Given the description of an element on the screen output the (x, y) to click on. 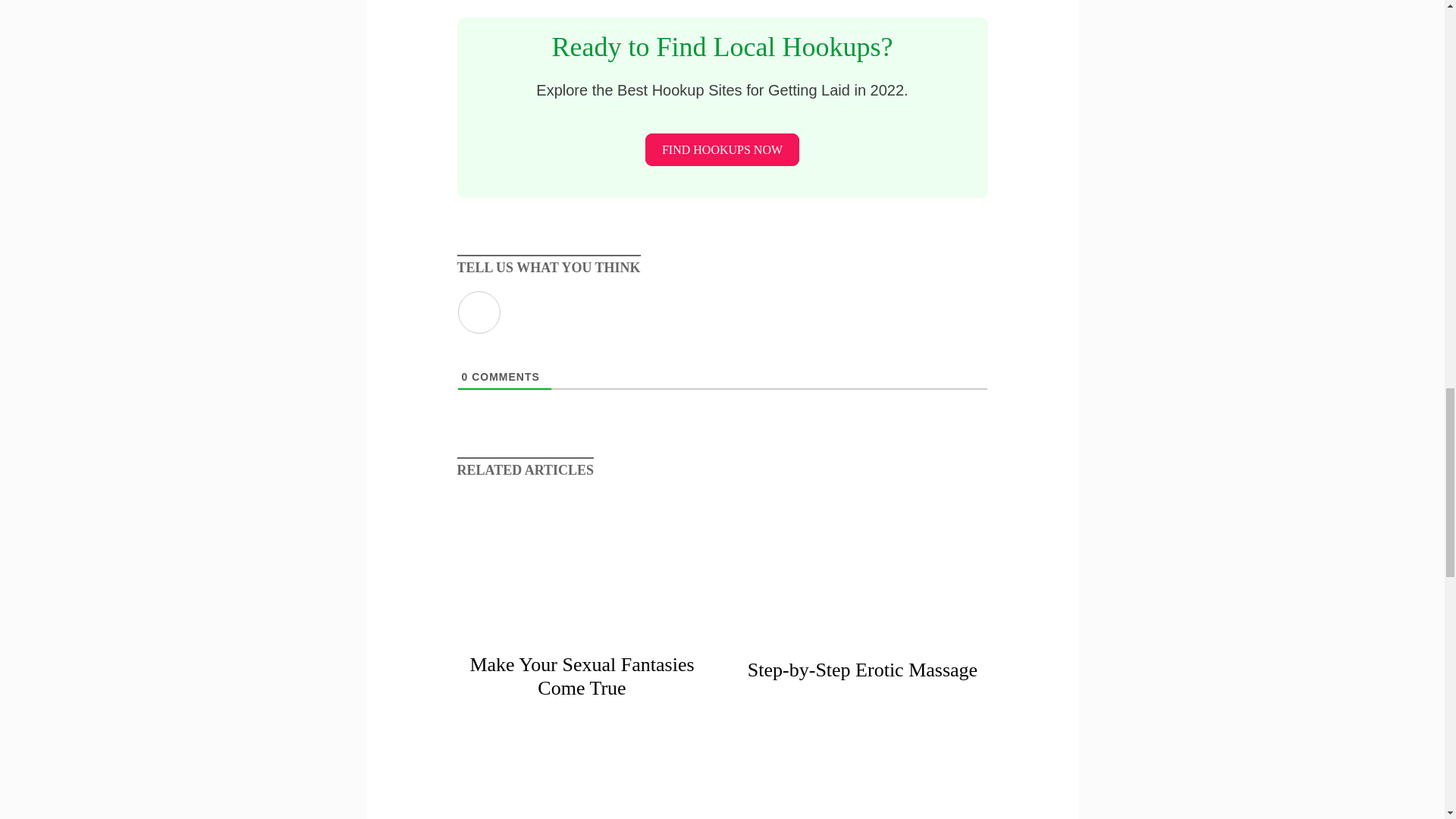
Make Your Sexual Fantasies Come True (581, 676)
FIND HOOKUPS NOW (722, 149)
Step-by-Step Erotic Massage (861, 632)
Make Your Sexual Fantasies Come True (581, 632)
Step-by-Step Erotic Massage (862, 669)
